Given the description of an element on the screen output the (x, y) to click on. 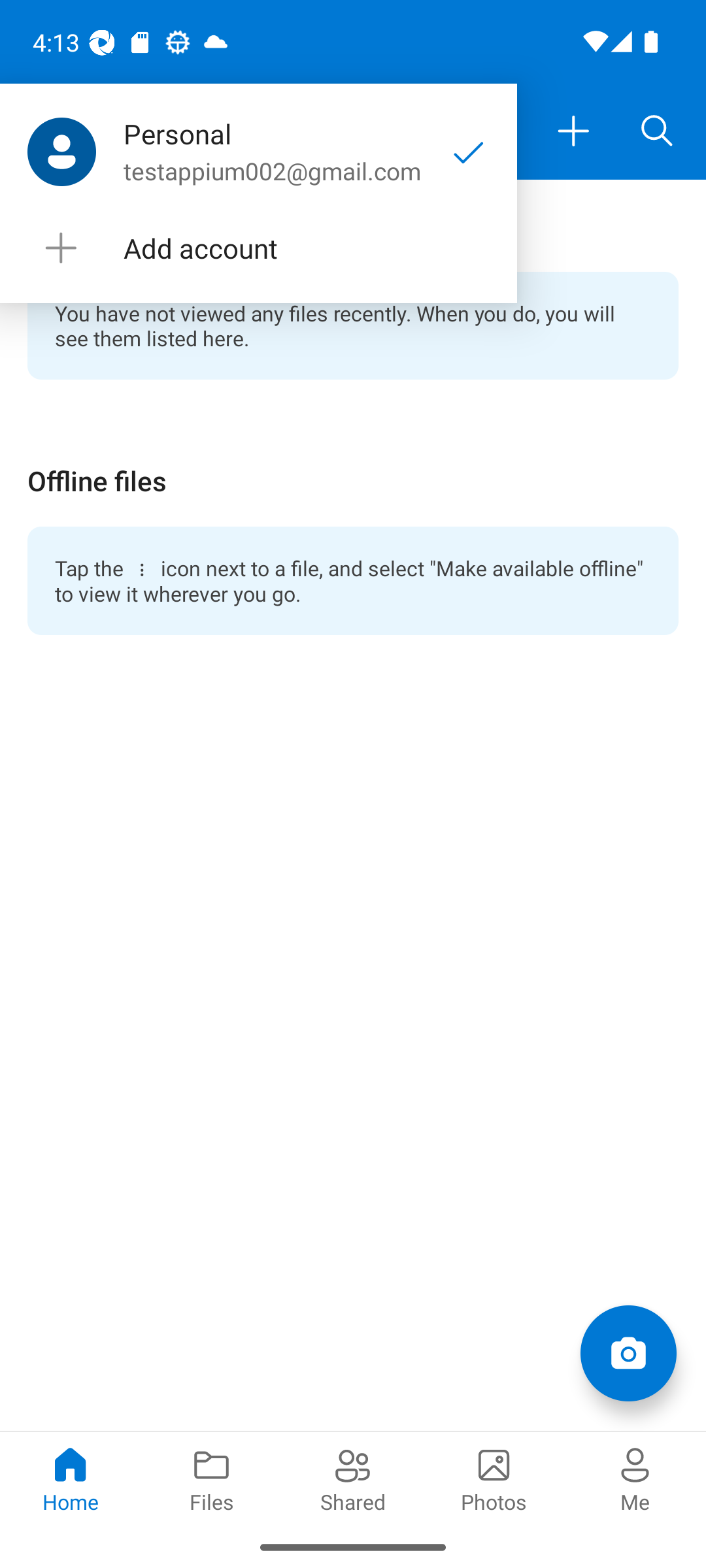
Personal testappium002@gmail.com Checked (258, 151)
Checked (468, 151)
Add account button Add account (258, 248)
